Given the description of an element on the screen output the (x, y) to click on. 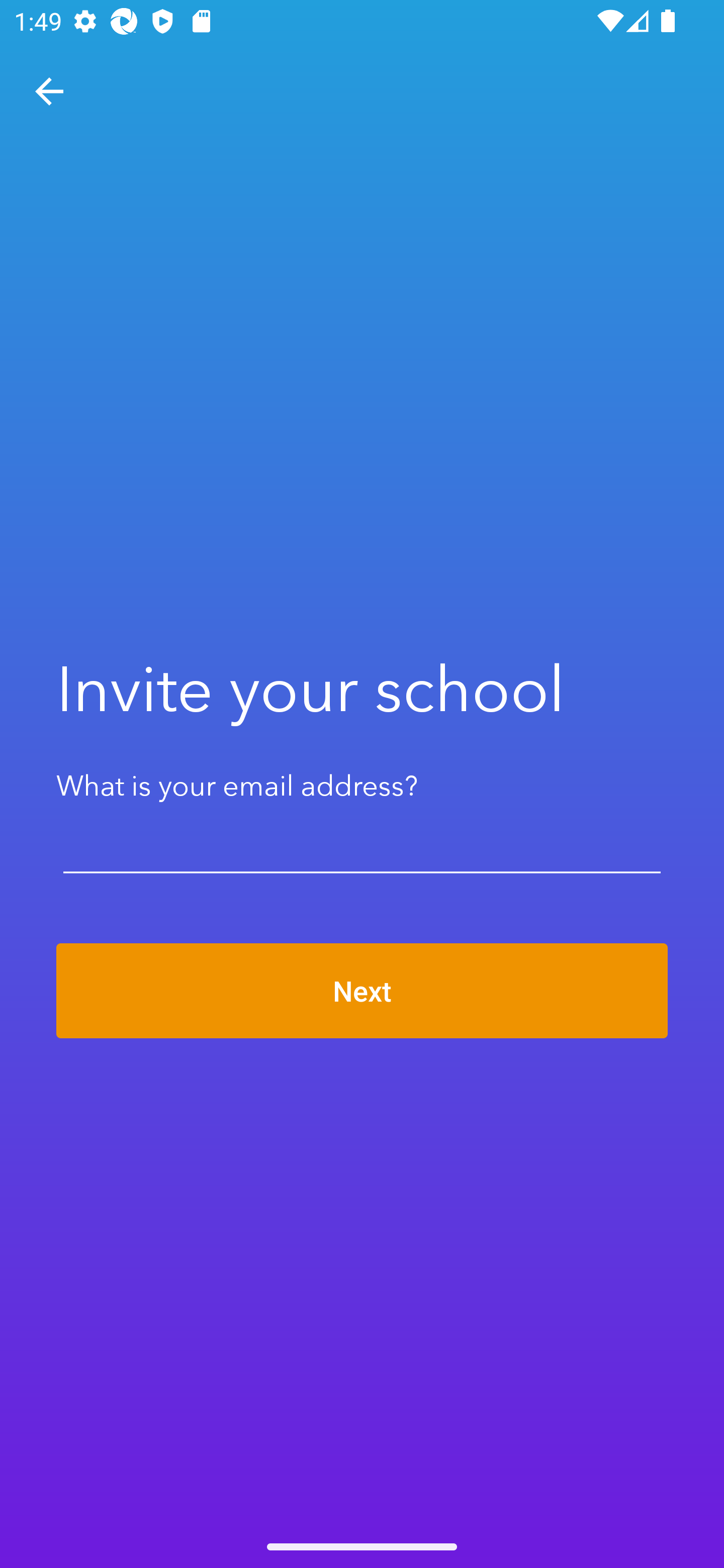
Navigate up (49, 91)
Next (361, 990)
